Given the description of an element on the screen output the (x, y) to click on. 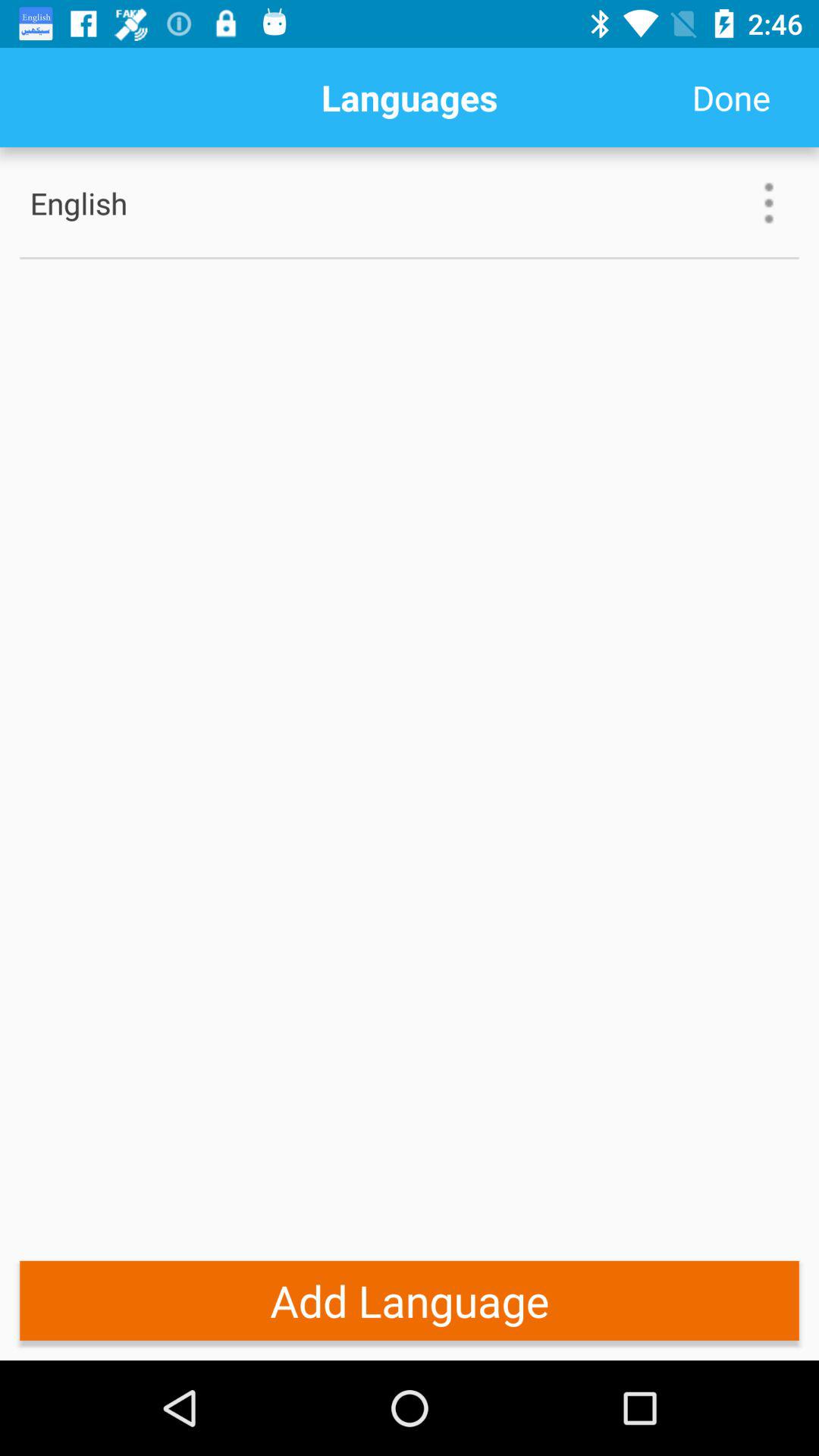
scroll to the done (731, 97)
